Given the description of an element on the screen output the (x, y) to click on. 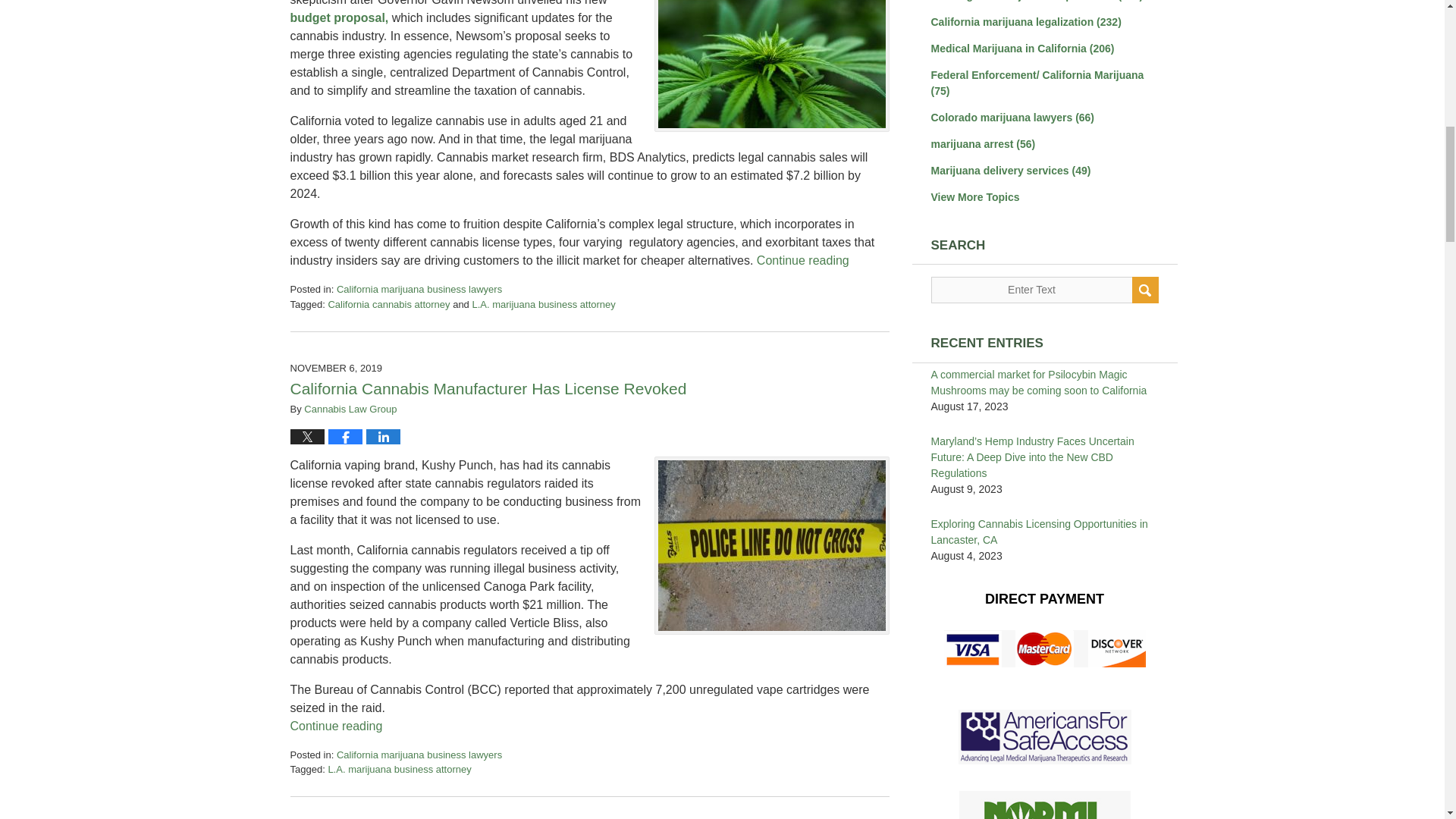
View all posts tagged with L.A. marijuana business attorney (398, 768)
View all posts tagged with L.A. marijuana business attorney (542, 304)
View all posts tagged with California cannabis attorney (388, 304)
View all posts in California marijuana business lawyers (419, 288)
View all posts in California marijuana business lawyers (419, 754)
